Given the description of an element on the screen output the (x, y) to click on. 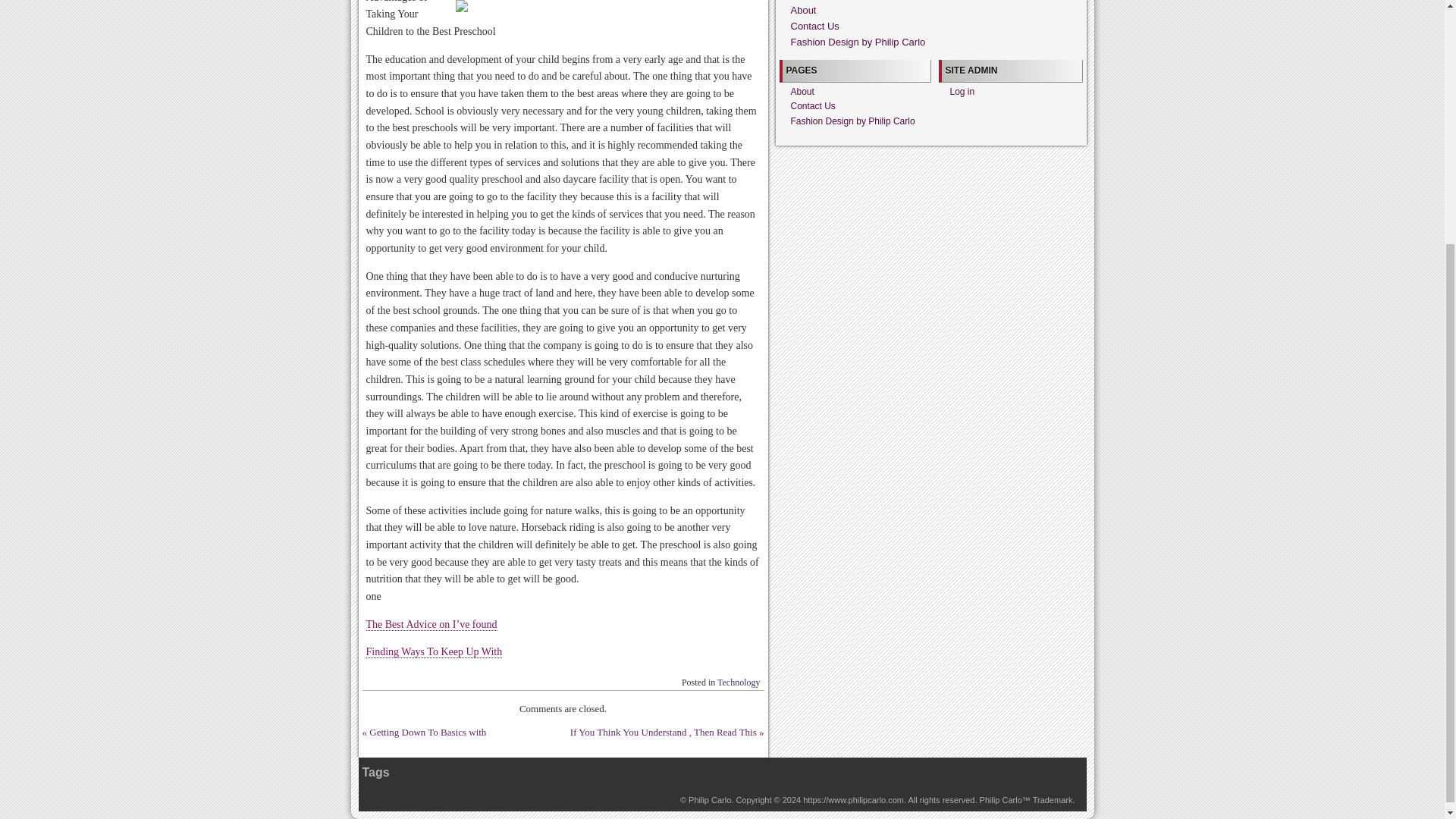
About (801, 91)
Fashion Design by Philip Carlo (857, 41)
Technology (738, 682)
Fashion Design by Philip Carlo (709, 799)
About (802, 9)
Finding Ways To Keep Up With (433, 652)
Getting Down To Basics with (427, 731)
Contact Us (814, 25)
If You Think You Understand , Then Read This (663, 731)
